Given the description of an element on the screen output the (x, y) to click on. 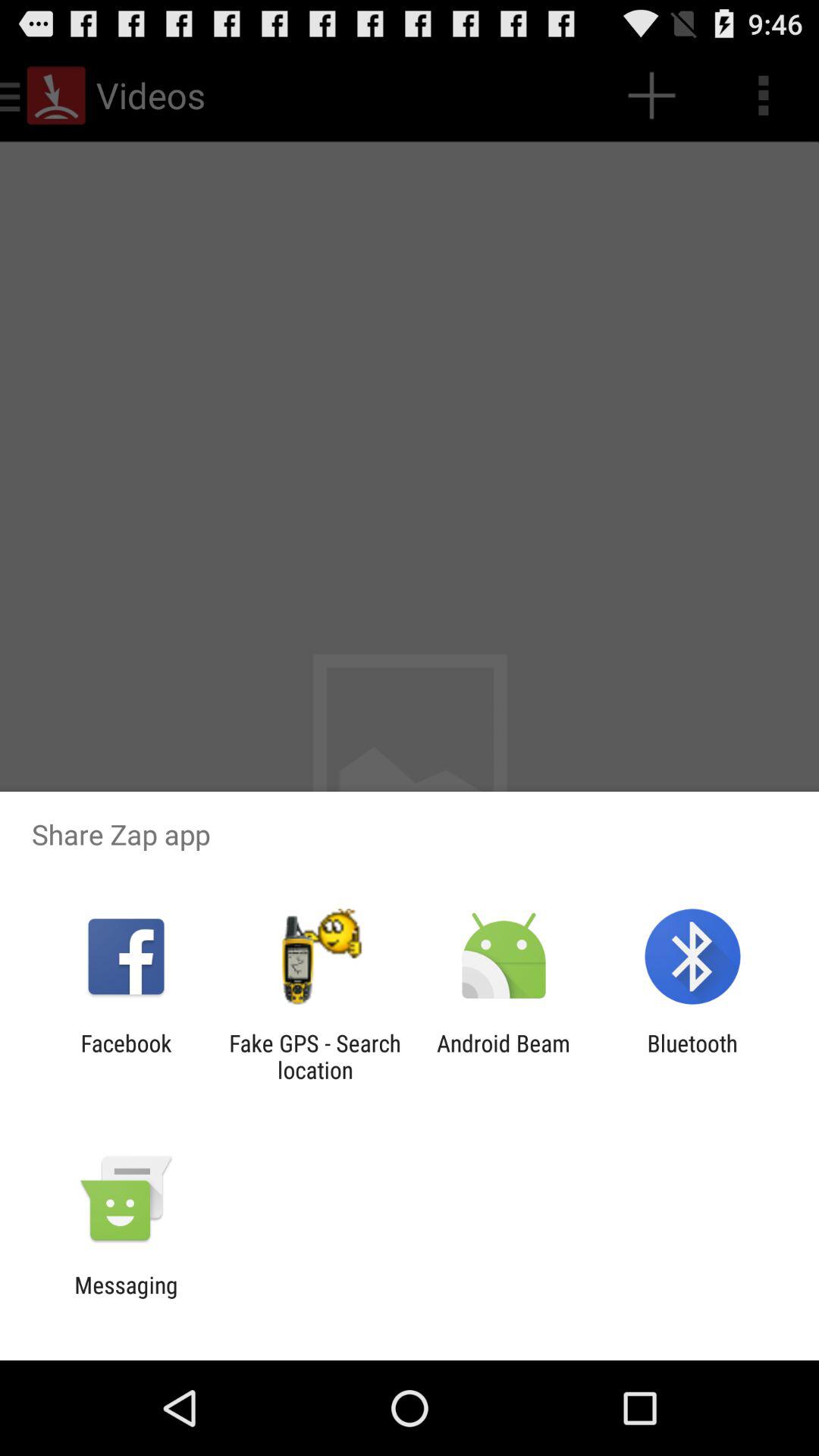
turn off the messaging icon (126, 1298)
